Given the description of an element on the screen output the (x, y) to click on. 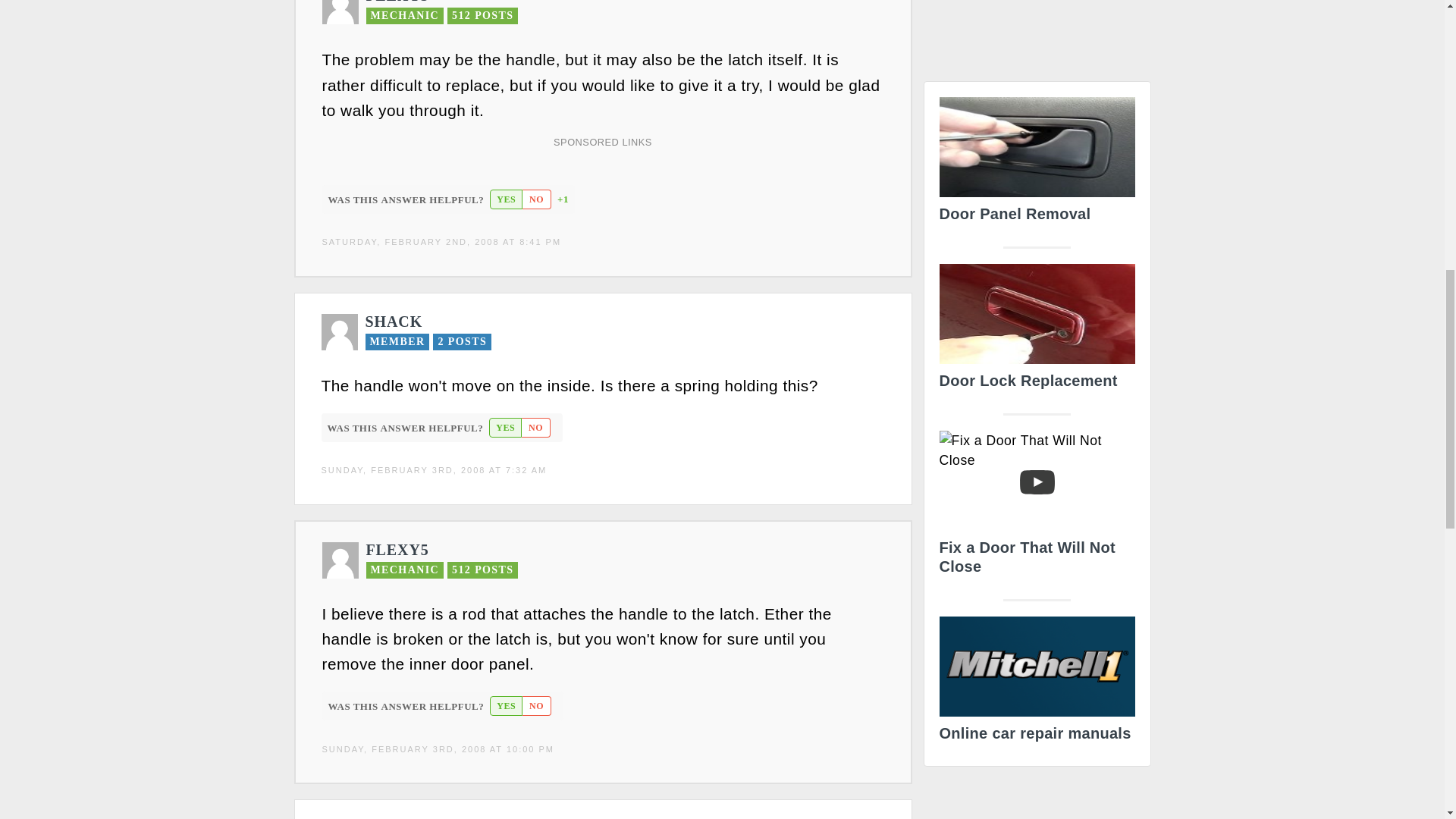
Car Manual (1036, 683)
Door Lock Replacement  (1036, 330)
Advertisement (1037, 34)
Door Panel Removal (1036, 163)
